Given the description of an element on the screen output the (x, y) to click on. 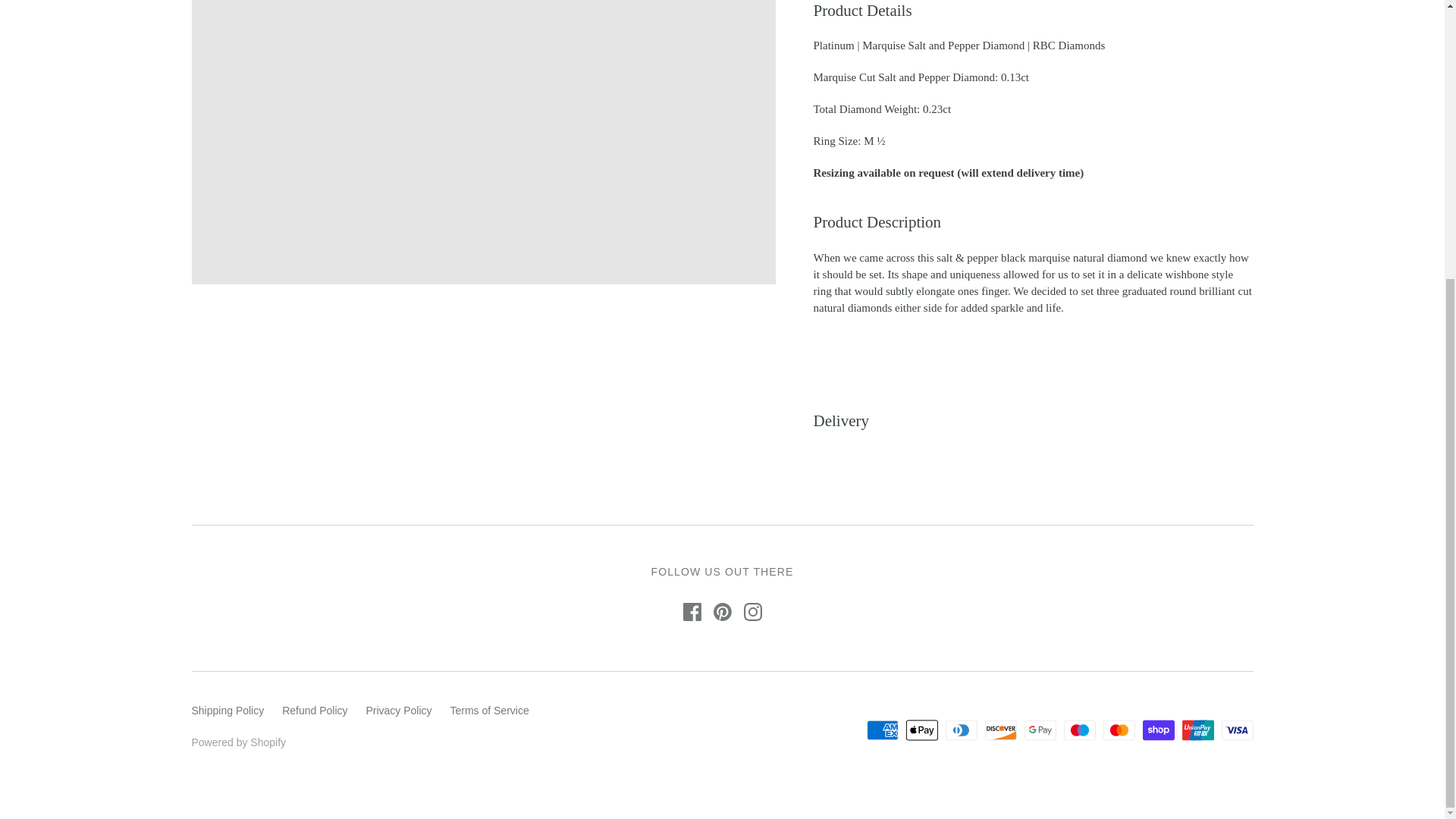
Maestro (1080, 729)
Shop Pay (1158, 729)
Apple Pay (921, 729)
Google Pay (1041, 729)
Instagram Icon (751, 611)
American Express (882, 729)
Discover (1000, 729)
Diners Club (960, 729)
Pinterest Icon (721, 611)
Mastercard (1119, 729)
